Given the description of an element on the screen output the (x, y) to click on. 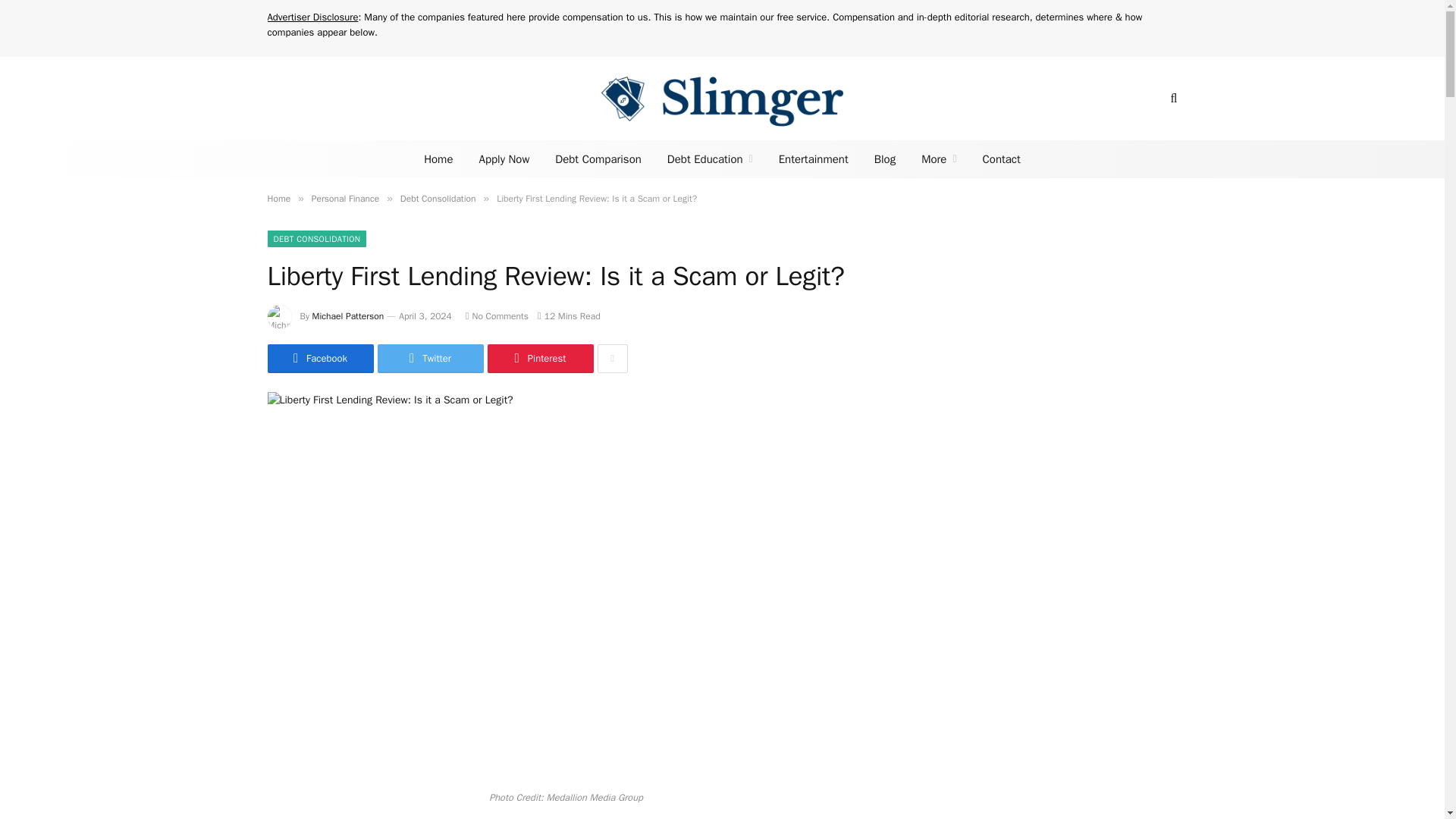
Debt Education (709, 159)
Home (437, 159)
Share on Pinterest (539, 358)
Contact (1001, 159)
Debt Comparison (597, 159)
Advertiser Disclosure (312, 16)
Posts by Michael Patterson (348, 316)
Entertainment (813, 159)
Blog (884, 159)
Share on Facebook (319, 358)
